Given the description of an element on the screen output the (x, y) to click on. 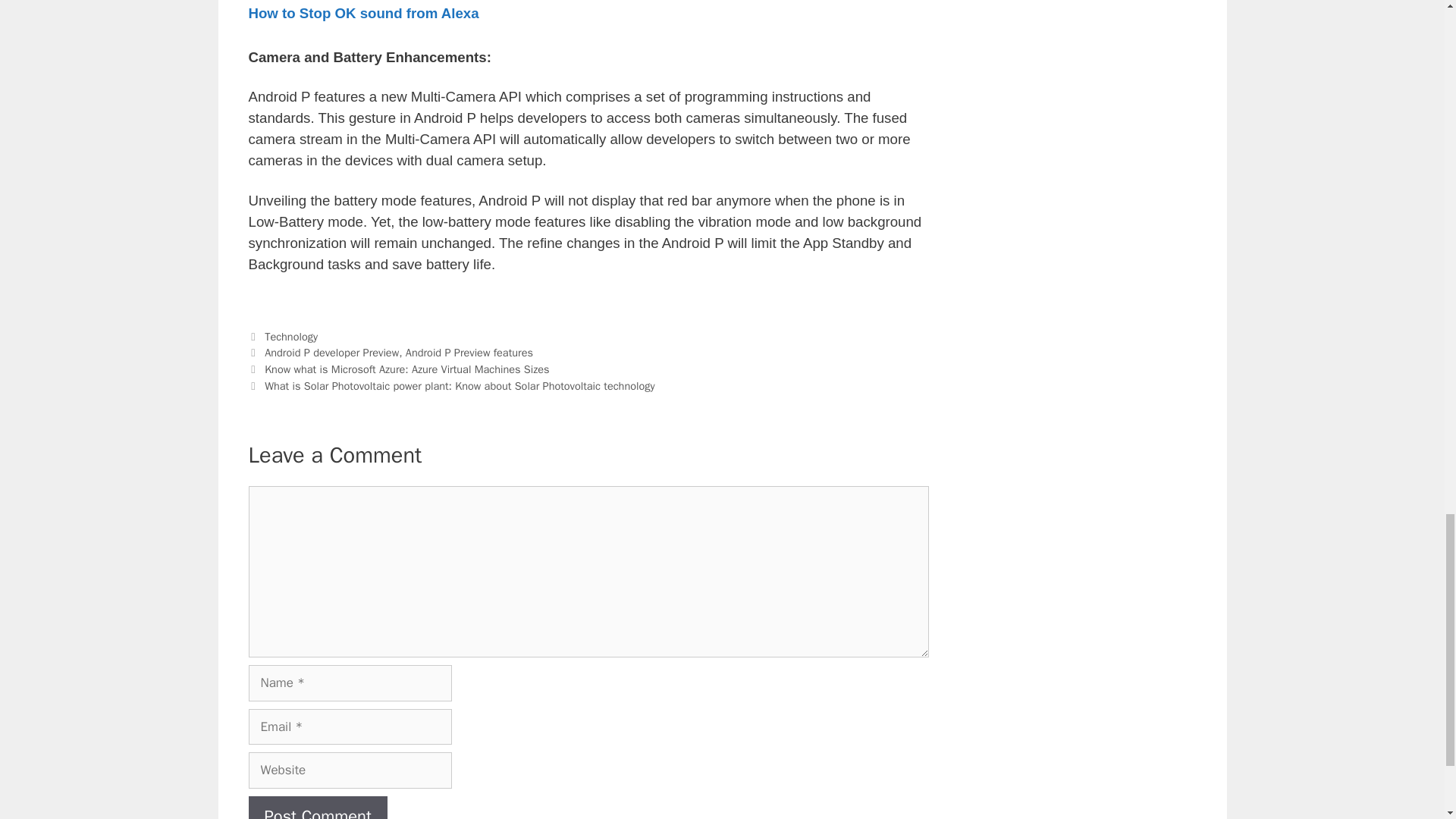
Android P Preview features (469, 352)
How to Stop OK sound from Alexa (363, 12)
Technology (290, 336)
Know what is Microsoft Azure: Azure Virtual Machines Sizes (406, 368)
Android P developer Preview (331, 352)
Post Comment (318, 807)
Post Comment (318, 807)
